Given the description of an element on the screen output the (x, y) to click on. 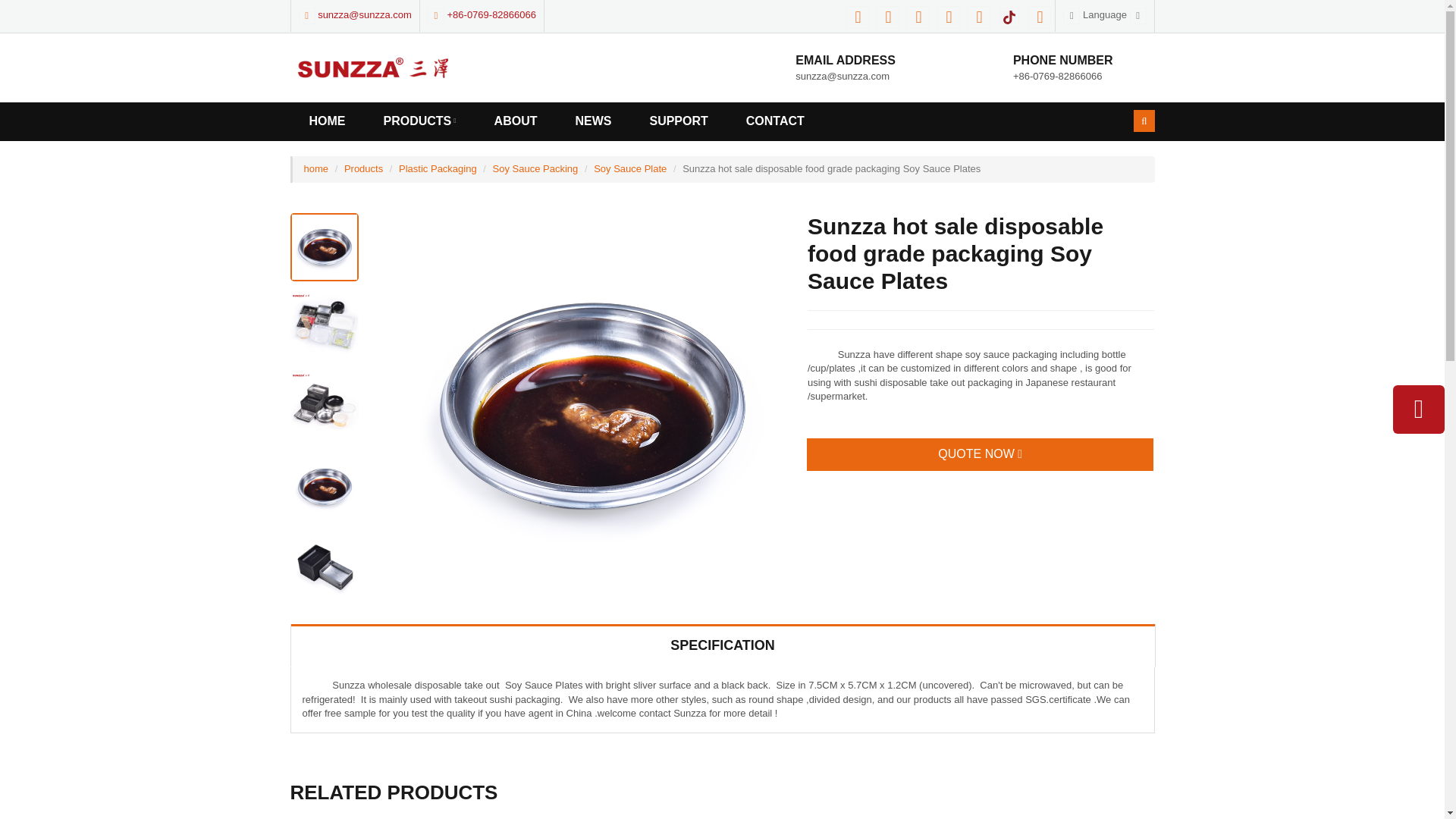
PRODUCTS (419, 121)
Language (1103, 14)
HOME (326, 121)
